Given the description of an element on the screen output the (x, y) to click on. 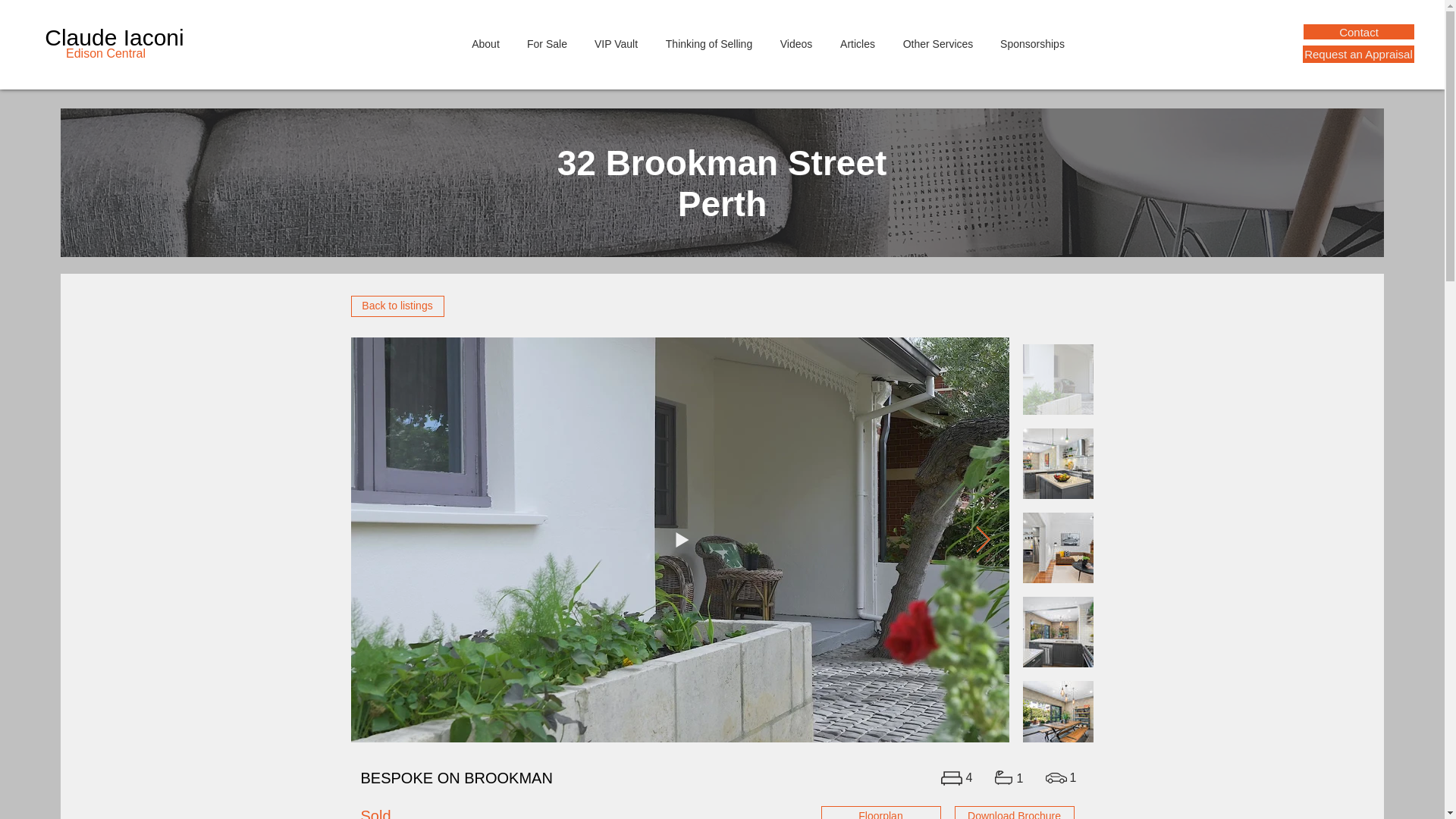
Articles (858, 43)
Sponsorships (1032, 43)
For Sale (546, 43)
VIP Vault (616, 43)
About (485, 43)
Videos (795, 43)
Request an Appraisal (1358, 54)
Contact (1358, 31)
Back to listings (397, 305)
Download Brochure (1013, 812)
Claude Iaconi (114, 37)
Floorplan (880, 812)
